Given the description of an element on the screen output the (x, y) to click on. 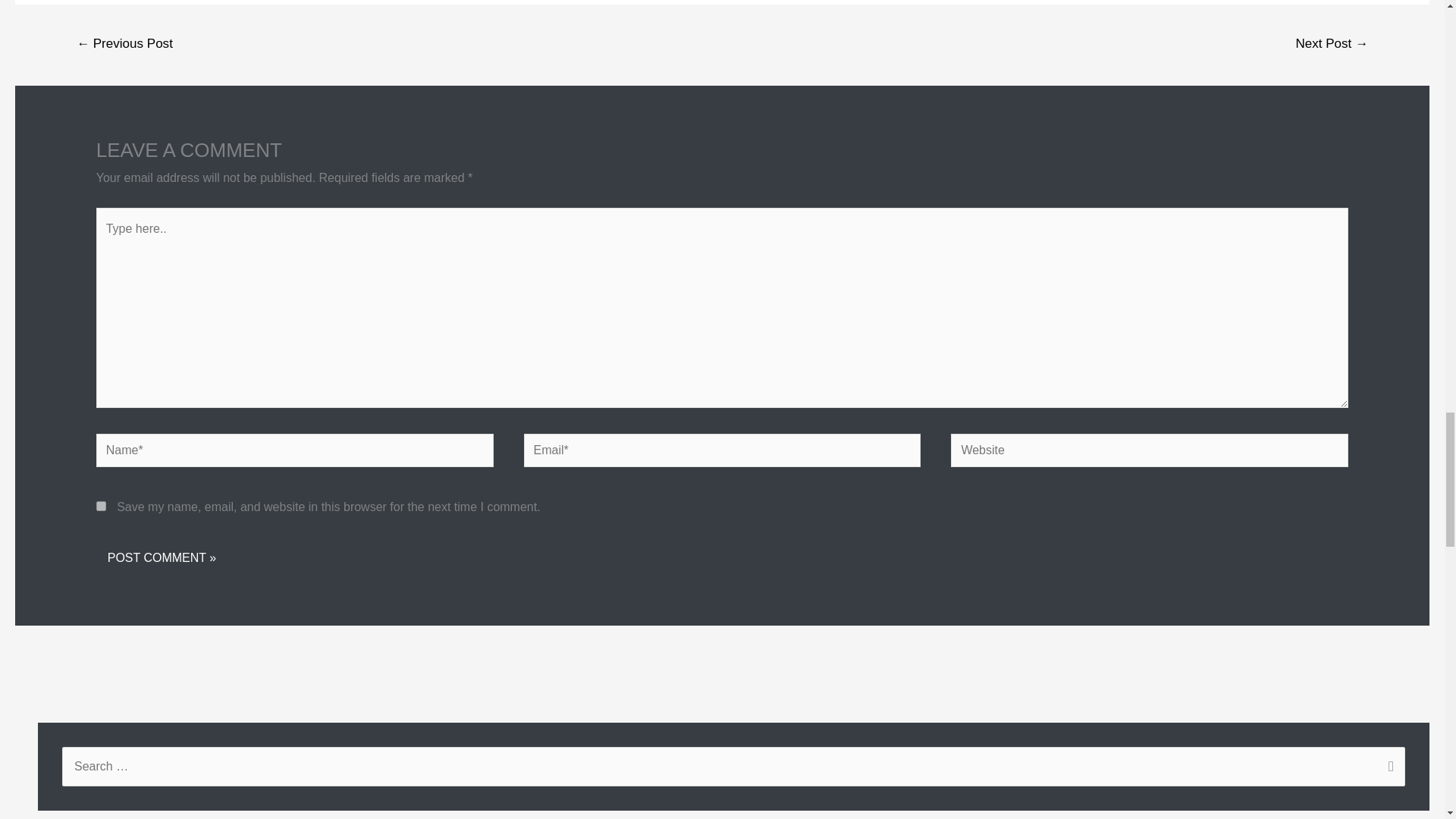
Search (1388, 767)
Search (1388, 767)
Search (1388, 767)
yes (101, 506)
